Given the description of an element on the screen output the (x, y) to click on. 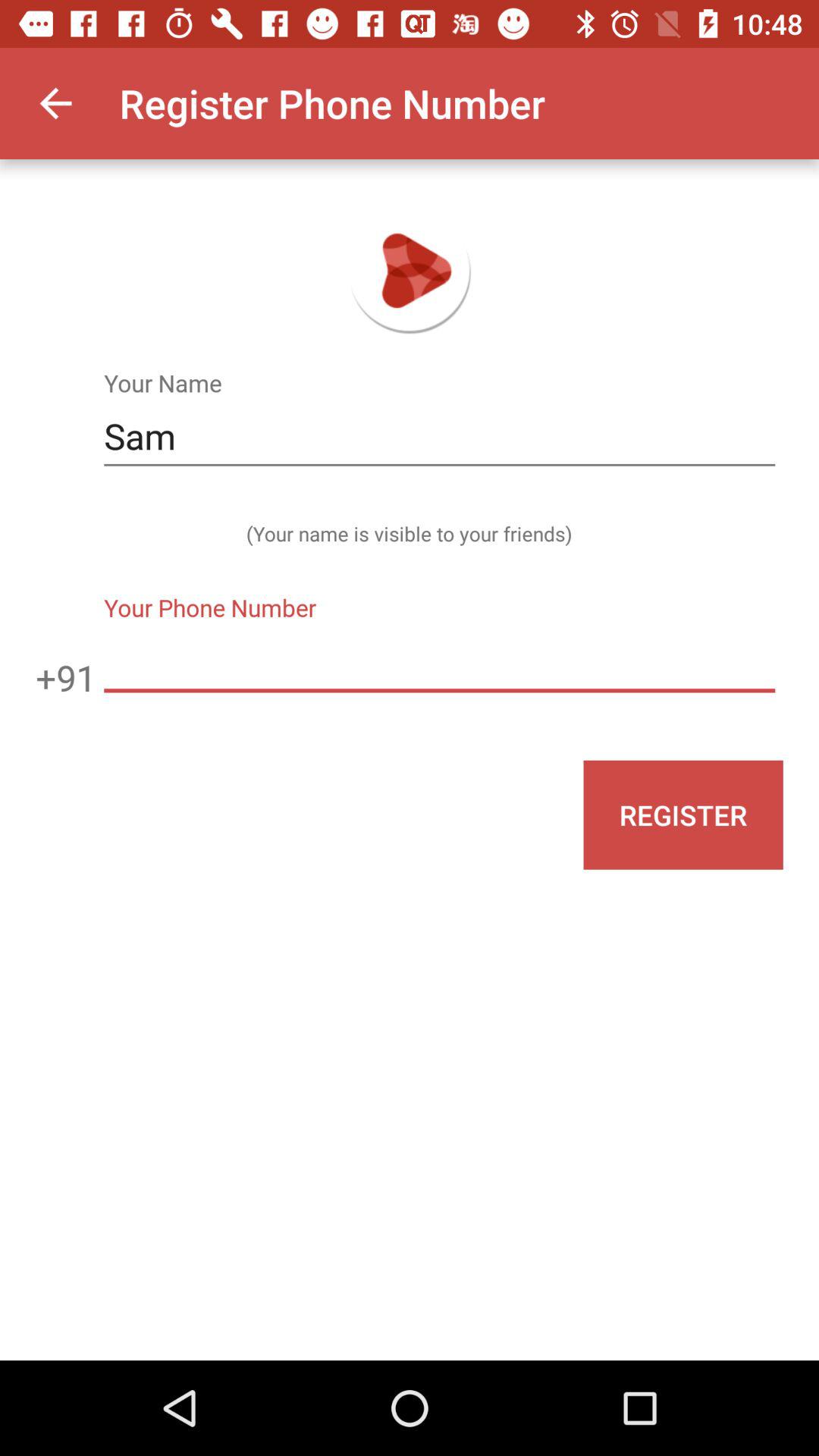
tap the icon to the right of the +91 (439, 661)
